Given the description of an element on the screen output the (x, y) to click on. 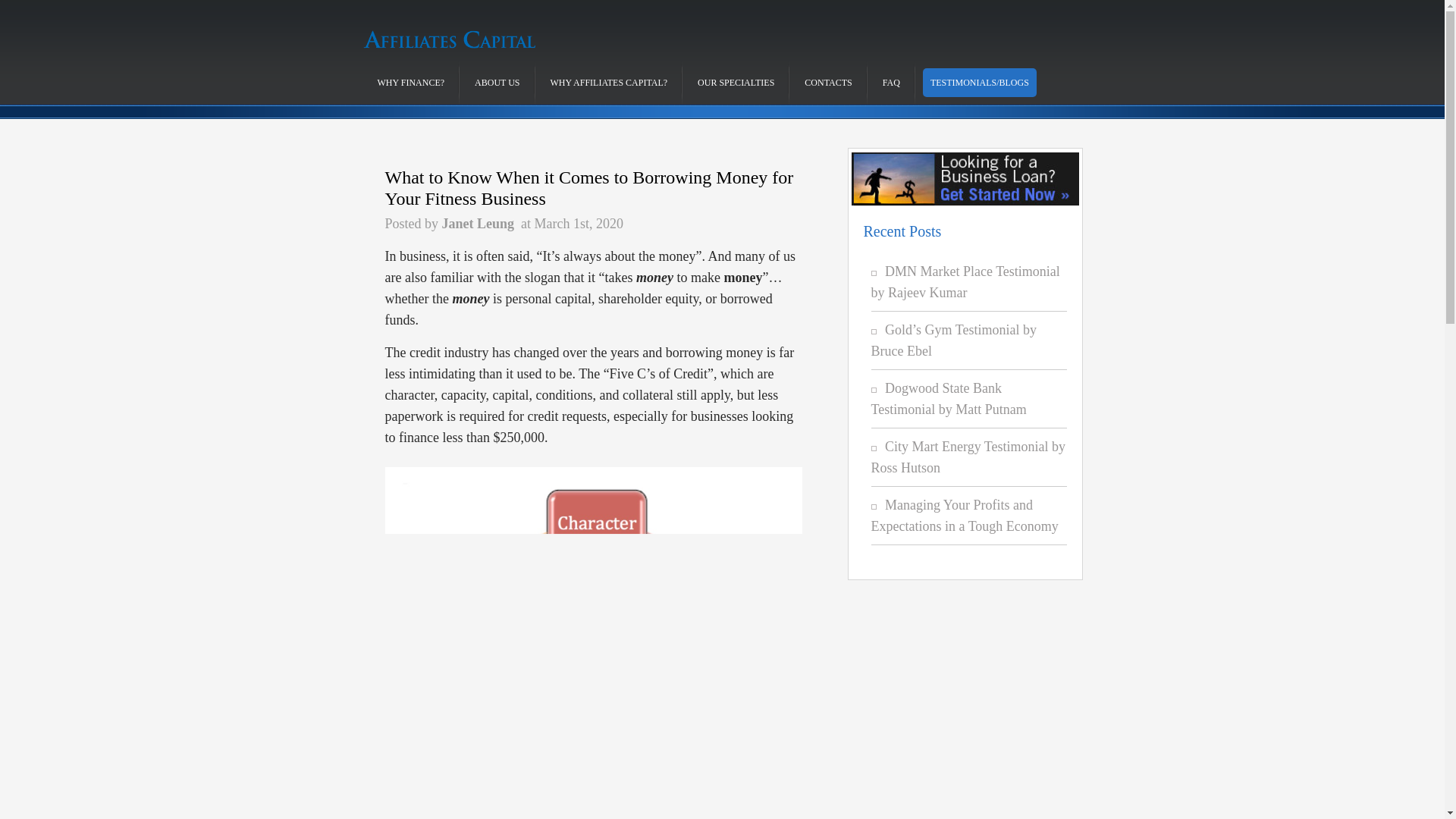
Janet Leung (478, 223)
WHY FINANCE? (410, 82)
Managing Your Profits and Expectations in a Tough Economy (964, 515)
ABOUT US (497, 82)
Get Started (957, 178)
FAQ (891, 82)
OUR SPECIALTIES (735, 82)
DMN Market Place Testimonial by Rajeev Kumar (964, 281)
WHY AFFILIATES CAPITAL? (609, 82)
Posts by Janet Leung (478, 223)
Dogwood State Bank Testimonial by Matt Putnam (948, 398)
CONTACTS (827, 82)
City Mart Energy Testimonial by Ross Hutson (967, 456)
